Given the description of an element on the screen output the (x, y) to click on. 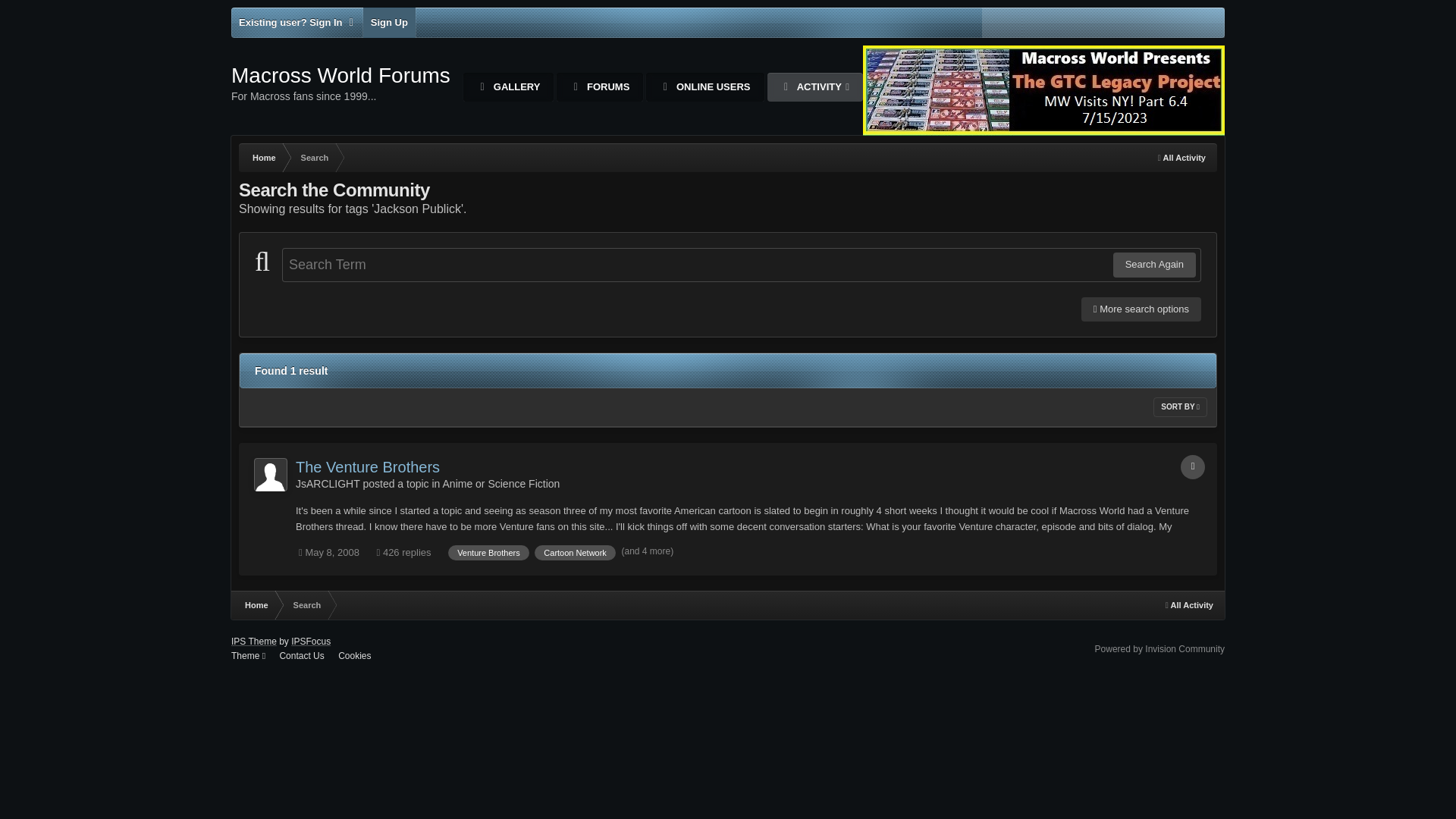
Search Again (1154, 264)
Search (313, 157)
Sign Up (388, 22)
FORUMS (599, 86)
All Activity (340, 82)
Invision Community (1182, 157)
Home (1159, 648)
Topic (255, 604)
Existing user? Sign In   (1192, 467)
